Given the description of an element on the screen output the (x, y) to click on. 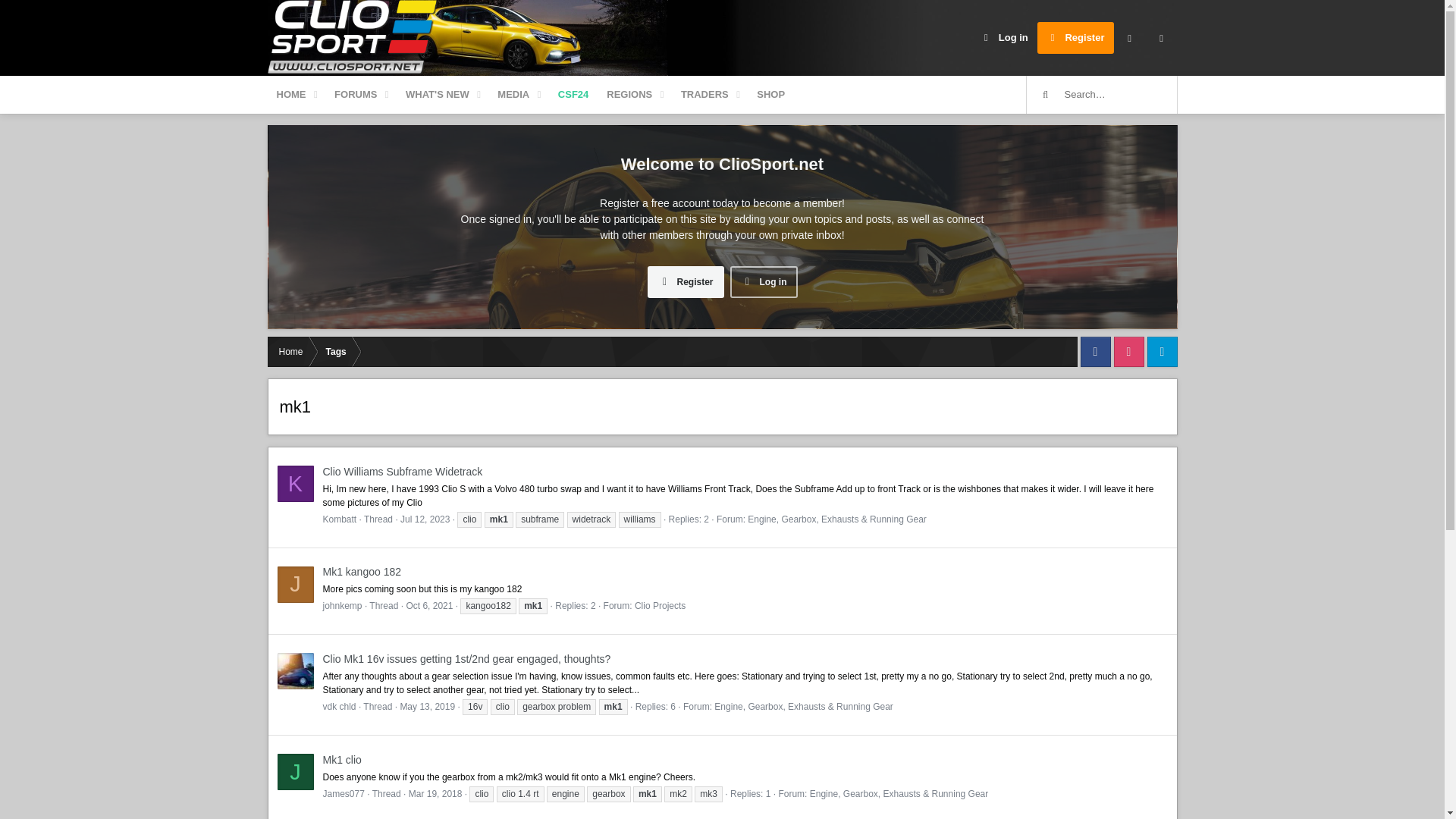
Jul 12, 2023 at 12:07 AM (424, 519)
Dark mode (1160, 38)
WHAT'S NEW (436, 94)
Customize (1128, 38)
HOME (289, 94)
MEDIA (512, 94)
ClioSport.net - The Worlds Largest Clio Owners Club (352, 38)
Oct 6, 2021 at 11:07 PM (429, 605)
Register (1074, 38)
Mar 19, 2018 at 4:13 PM (436, 793)
